Given the description of an element on the screen output the (x, y) to click on. 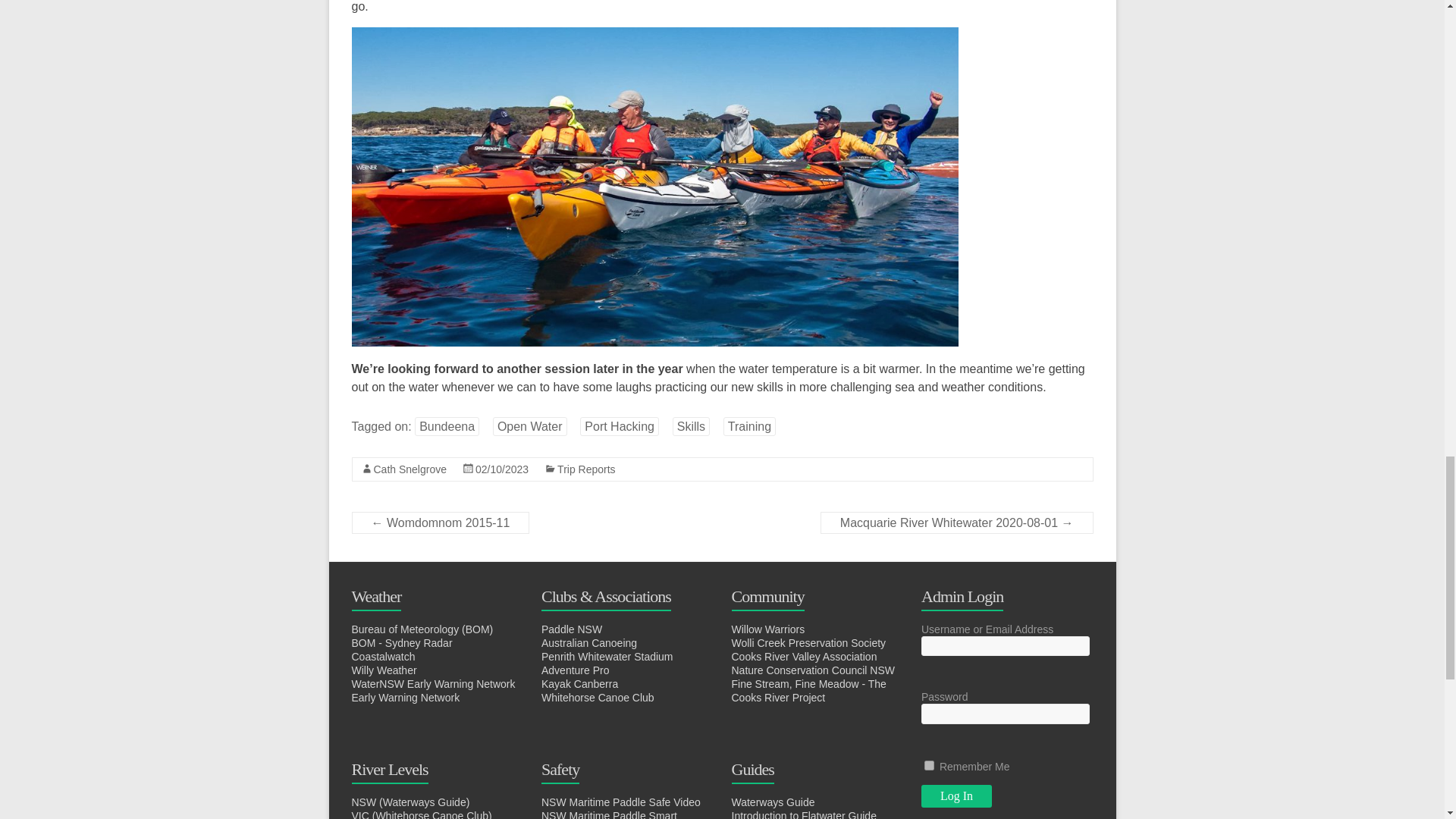
Training (749, 425)
Open Water (530, 425)
Cath Snelgrove (409, 469)
Coastalwatch (383, 656)
WaterNSW Early Warning Network (433, 684)
forever (929, 765)
BOM - Sydney Radar (402, 643)
Skills (691, 425)
Bundeena (446, 425)
Port Hacking (619, 425)
